Given the description of an element on the screen output the (x, y) to click on. 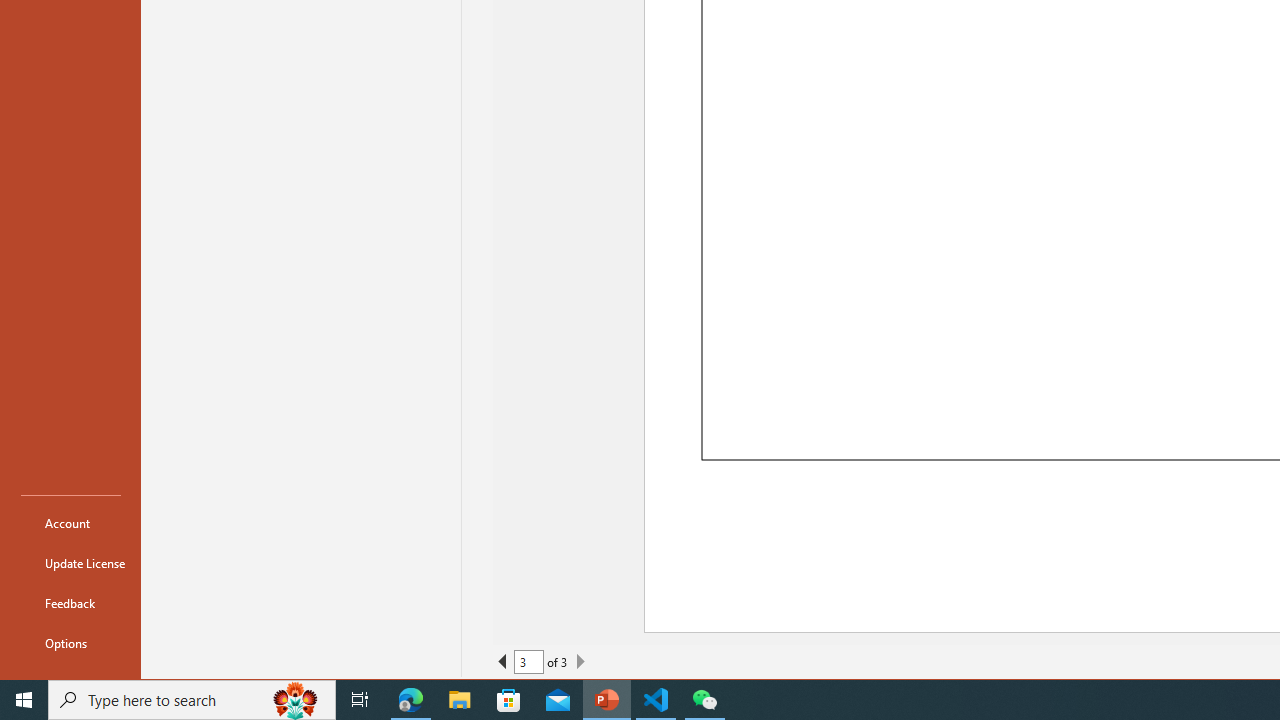
File Explorer (460, 699)
Microsoft Store (509, 699)
Task View (359, 699)
Search highlights icon opens search home window (295, 699)
Update License (70, 562)
Next Page (580, 661)
Account (70, 522)
PowerPoint - 1 running window (607, 699)
Microsoft Edge - 1 running window (411, 699)
Feedback (70, 602)
Options (70, 642)
Previous Page (502, 661)
WeChat - 1 running window (704, 699)
